Given the description of an element on the screen output the (x, y) to click on. 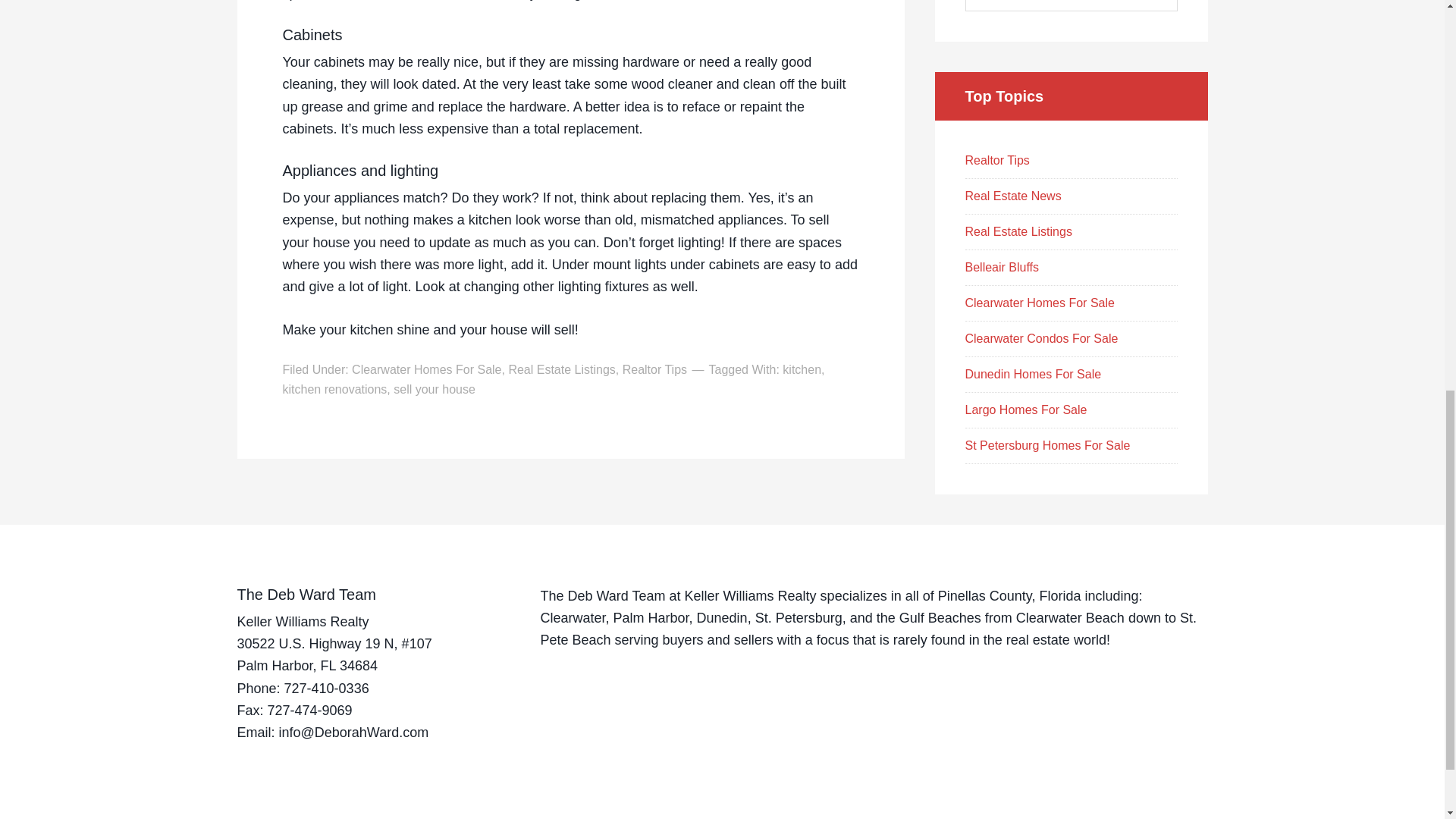
Realtor Tips (655, 369)
Clearwater Homes For Sale (426, 369)
Clearwater Homes For Sale (1038, 302)
Real Estate Listings (561, 369)
Realtor Tips (996, 160)
Belleair Bluffs (1001, 267)
Real Estate News (1012, 195)
sell your house (434, 389)
Real Estate Listings (1017, 231)
kitchen renovations (334, 389)
kitchen (802, 369)
